Given the description of an element on the screen output the (x, y) to click on. 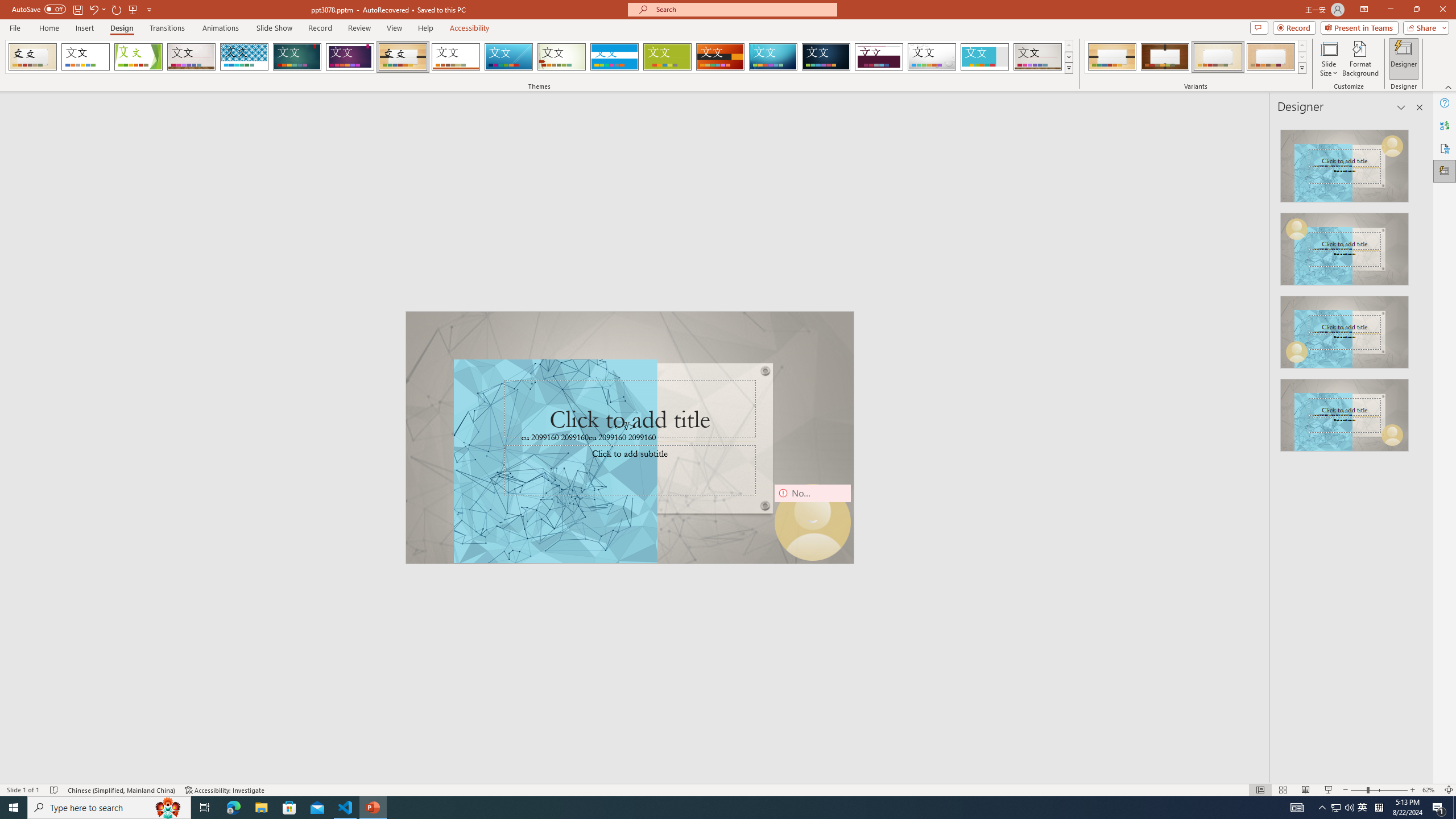
AutomationID: ThemeVariantsGallery (1195, 56)
Organic Variant 1 (1112, 56)
Damask (826, 56)
Organic Variant 2 (1164, 56)
Format Background (1360, 58)
Slice (508, 56)
